Given the description of an element on the screen output the (x, y) to click on. 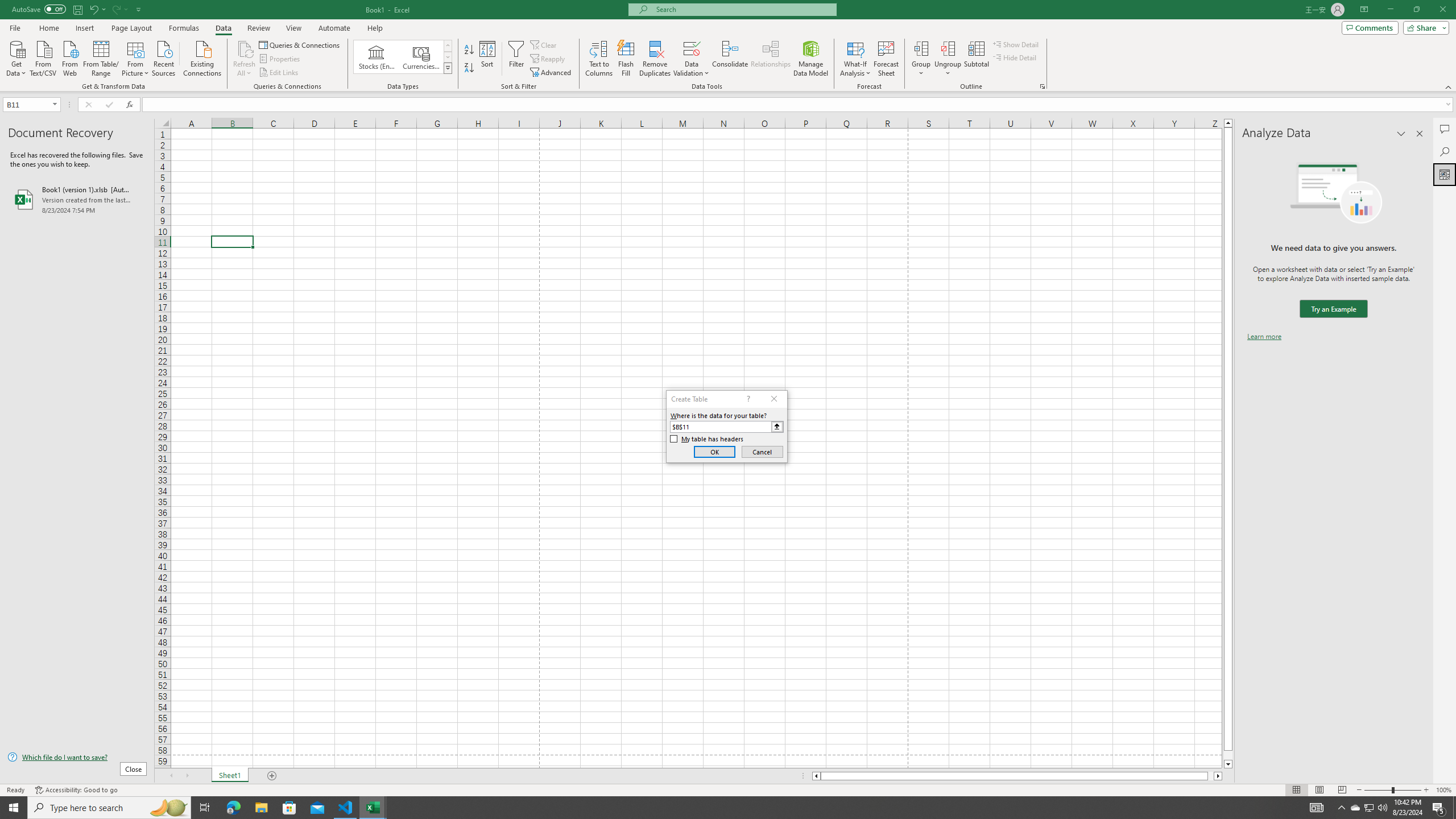
Text to Columns... (598, 58)
System (6, 6)
Share (1423, 27)
Comments (1369, 27)
Insert (83, 28)
Subtotal (976, 58)
Edit Links (279, 72)
Line down (1228, 764)
Line up (1228, 122)
Clear (544, 44)
Accessibility Checker Accessibility: Good to go (76, 790)
Name Box (30, 104)
Close pane (1419, 133)
Zoom Out (1377, 790)
Formulas (184, 28)
